Given the description of an element on the screen output the (x, y) to click on. 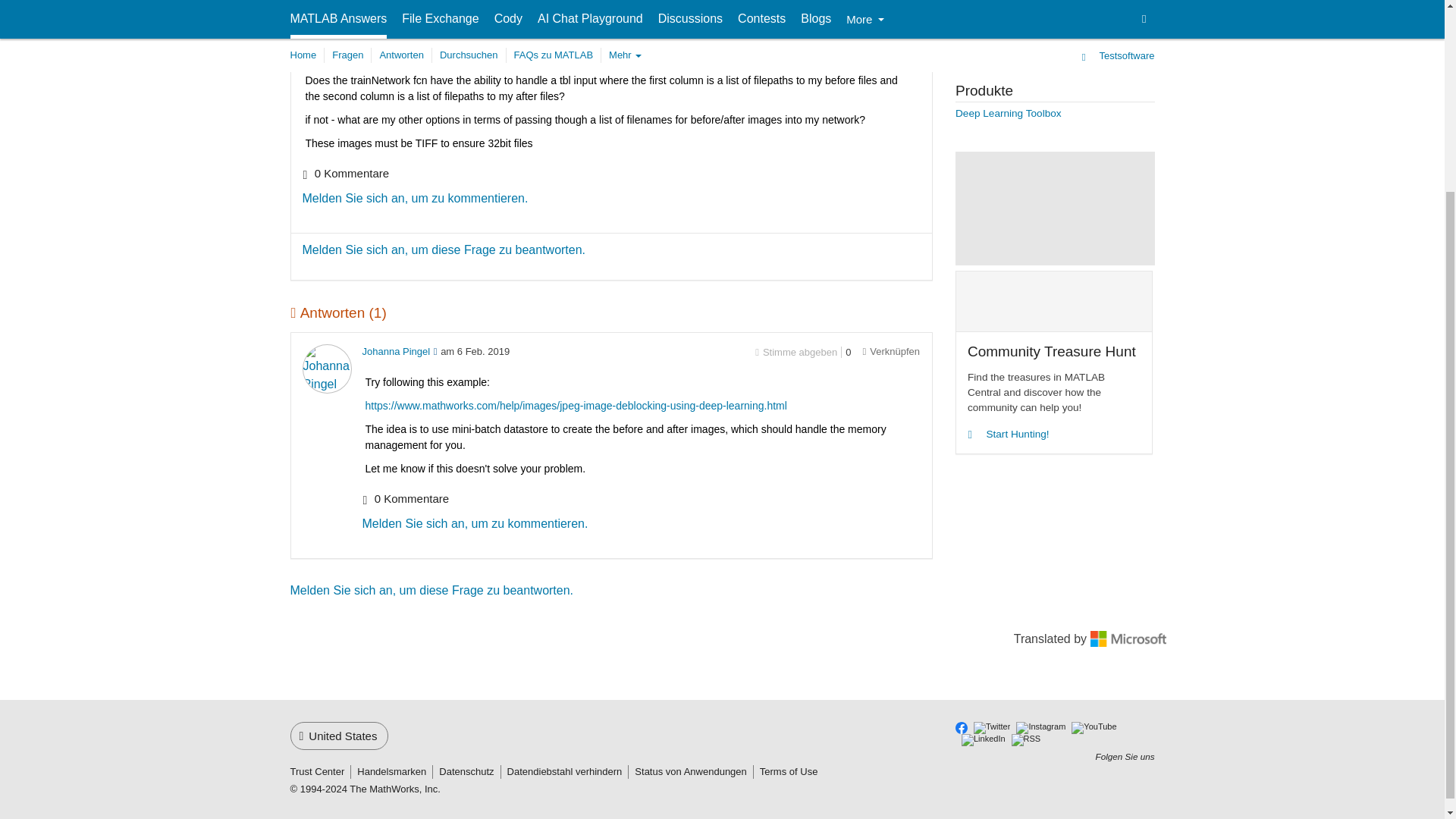
Direkter Link zu dieser Antwort (890, 351)
